Given the description of an element on the screen output the (x, y) to click on. 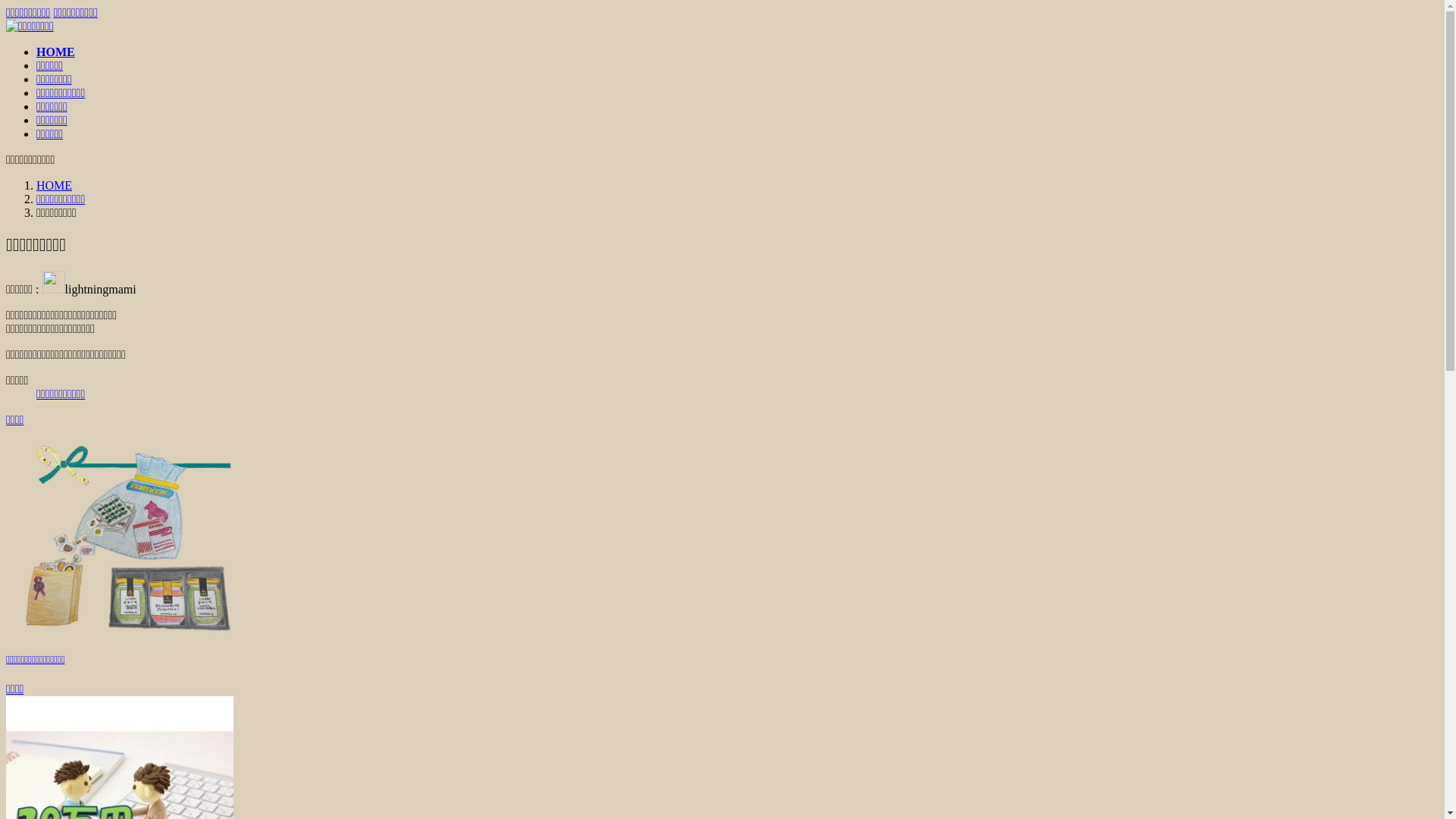
HOME Element type: text (54, 184)
HOME Element type: text (55, 51)
